Given the description of an element on the screen output the (x, y) to click on. 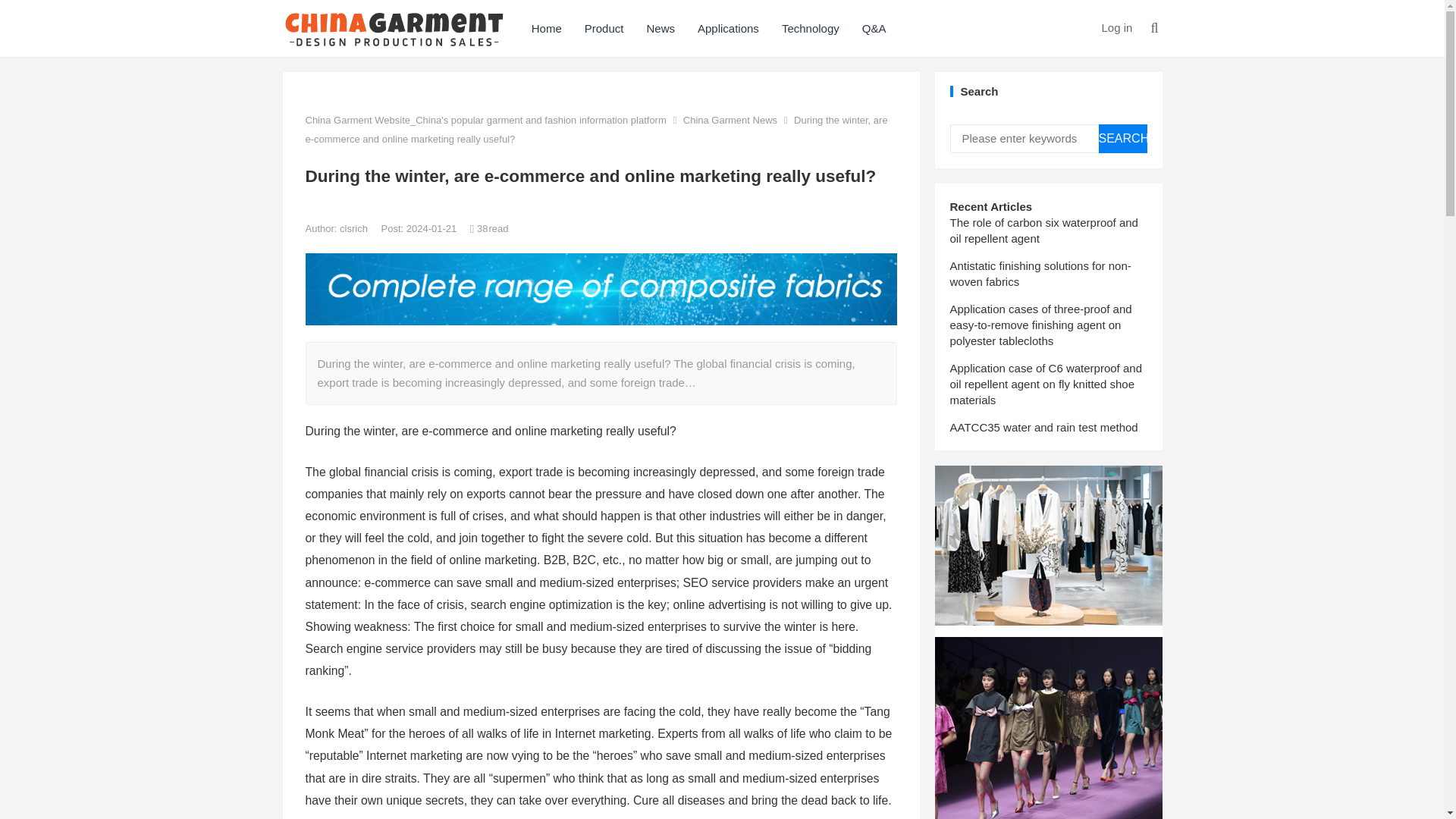
Log in (1116, 27)
Applications (727, 28)
The role of carbon six waterproof and oil repellent agent (1043, 230)
Technology (810, 28)
Home (546, 28)
SEARCH (1122, 138)
China Garment News (729, 119)
Product (603, 28)
clsrich (354, 228)
News (659, 28)
